Given the description of an element on the screen output the (x, y) to click on. 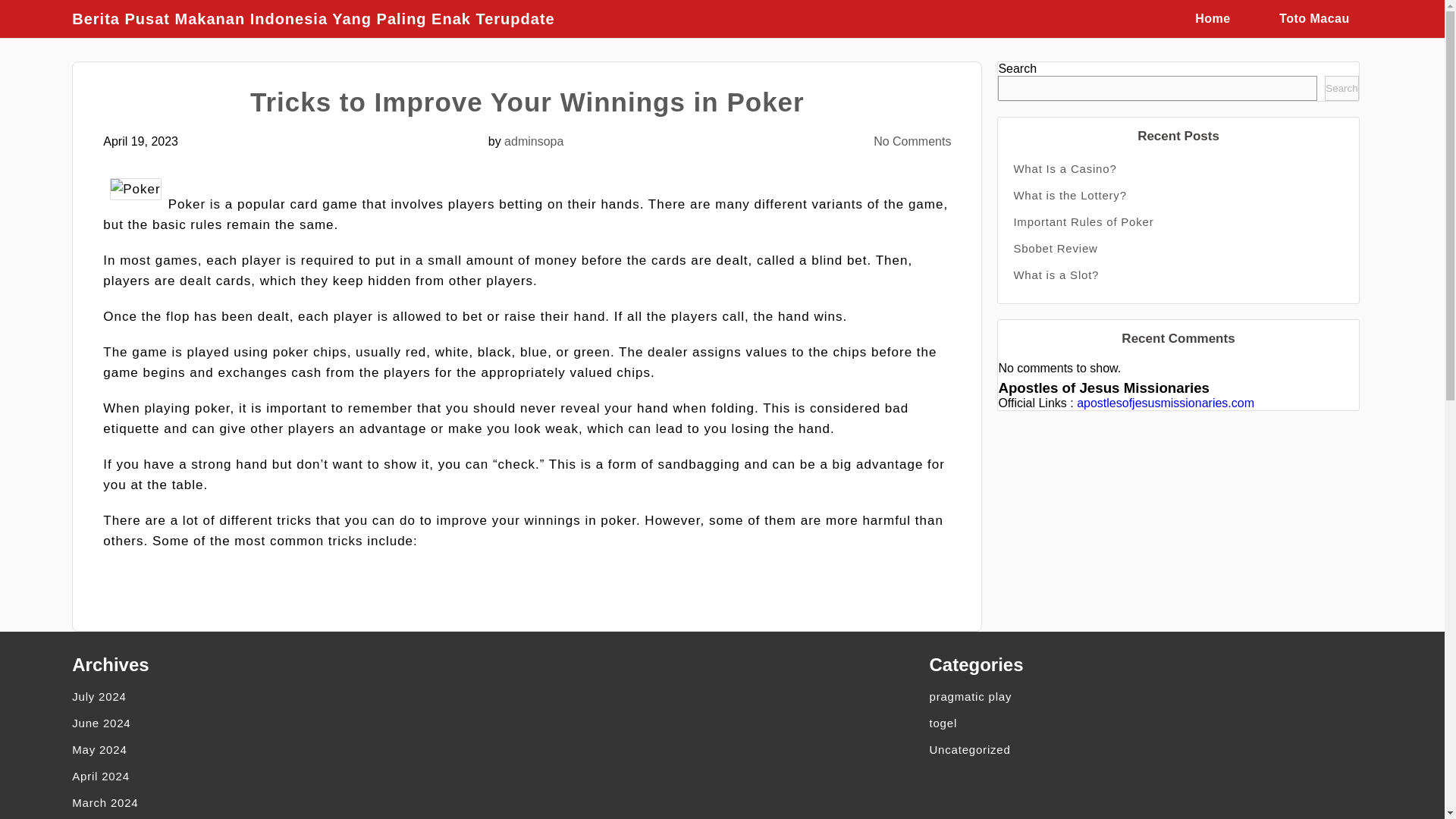
Toto Macau (1314, 18)
April 2024 (285, 775)
apostlesofjesusmissionaries.com (1165, 402)
What Is a Casino? (1177, 168)
What is the Lottery? (1177, 194)
July 2024 (285, 696)
Search (1341, 88)
Home (1212, 18)
March 2024 (285, 802)
No Comments (911, 141)
What is a Slot? (1177, 274)
May 2024 (285, 749)
Important Rules of Poker (1177, 221)
Posts by adminsopa (533, 141)
adminsopa (533, 141)
